Given the description of an element on the screen output the (x, y) to click on. 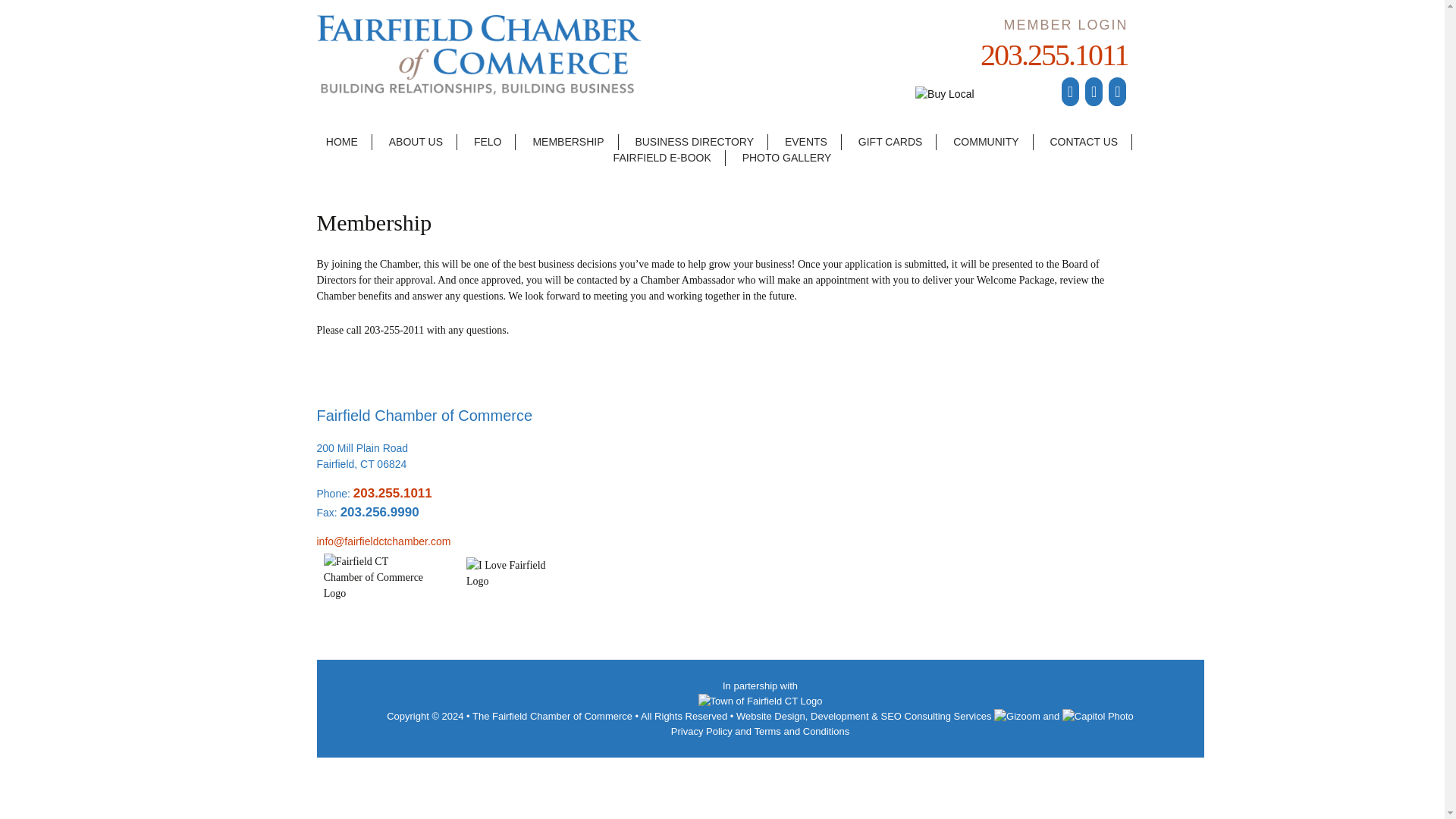
COMMUNITY (985, 141)
BUSINESS DIRECTORY (694, 141)
FELO (487, 141)
Town of Fairfield, CT (760, 699)
GIFT CARDS (890, 141)
EVENTS (806, 141)
PHOTO GALLERY (787, 157)
HOME (342, 141)
CONTACT US (1083, 141)
MEMBER LOGIN (1064, 24)
